Given the description of an element on the screen output the (x, y) to click on. 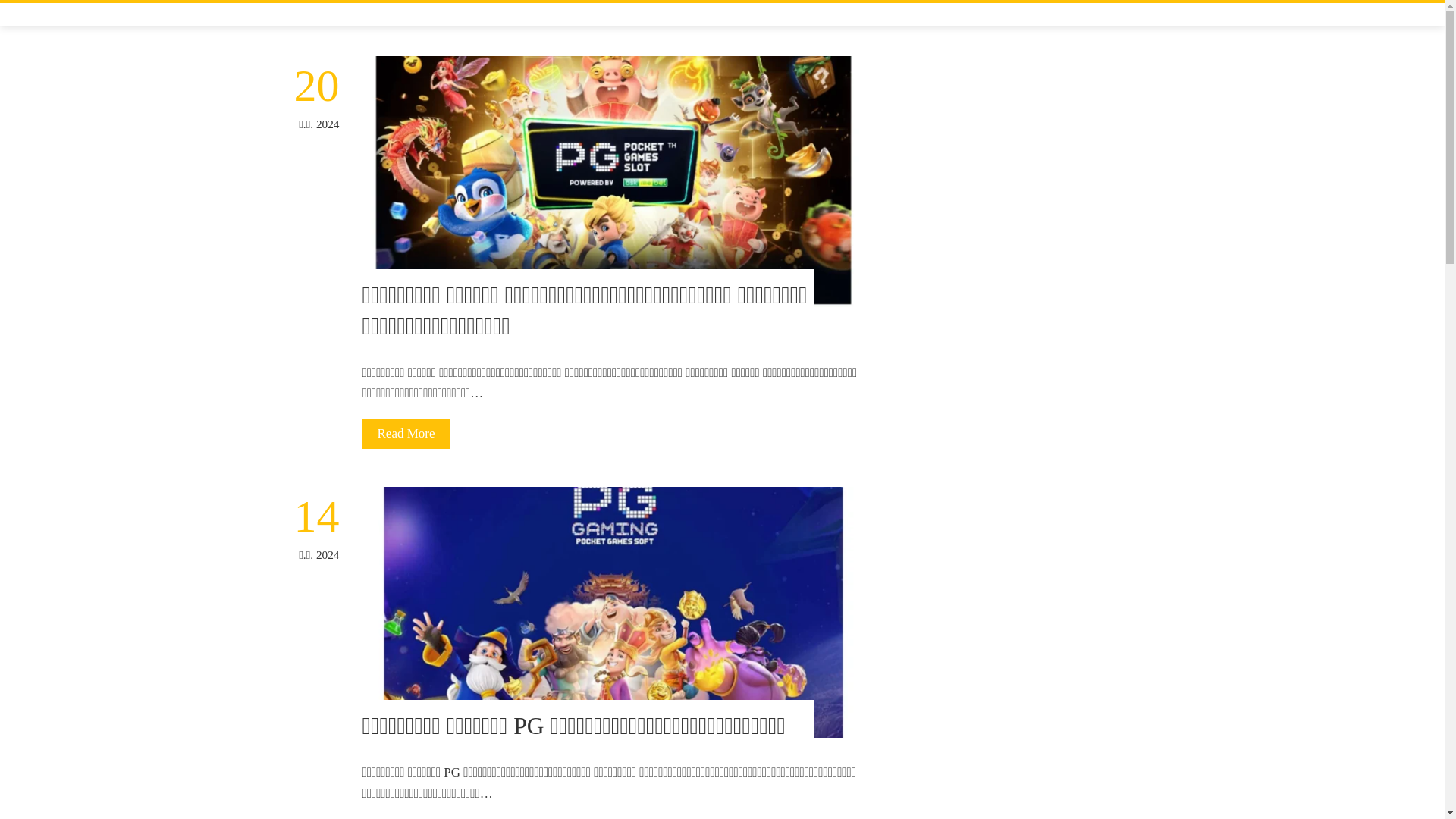
Read More (405, 433)
